Given the description of an element on the screen output the (x, y) to click on. 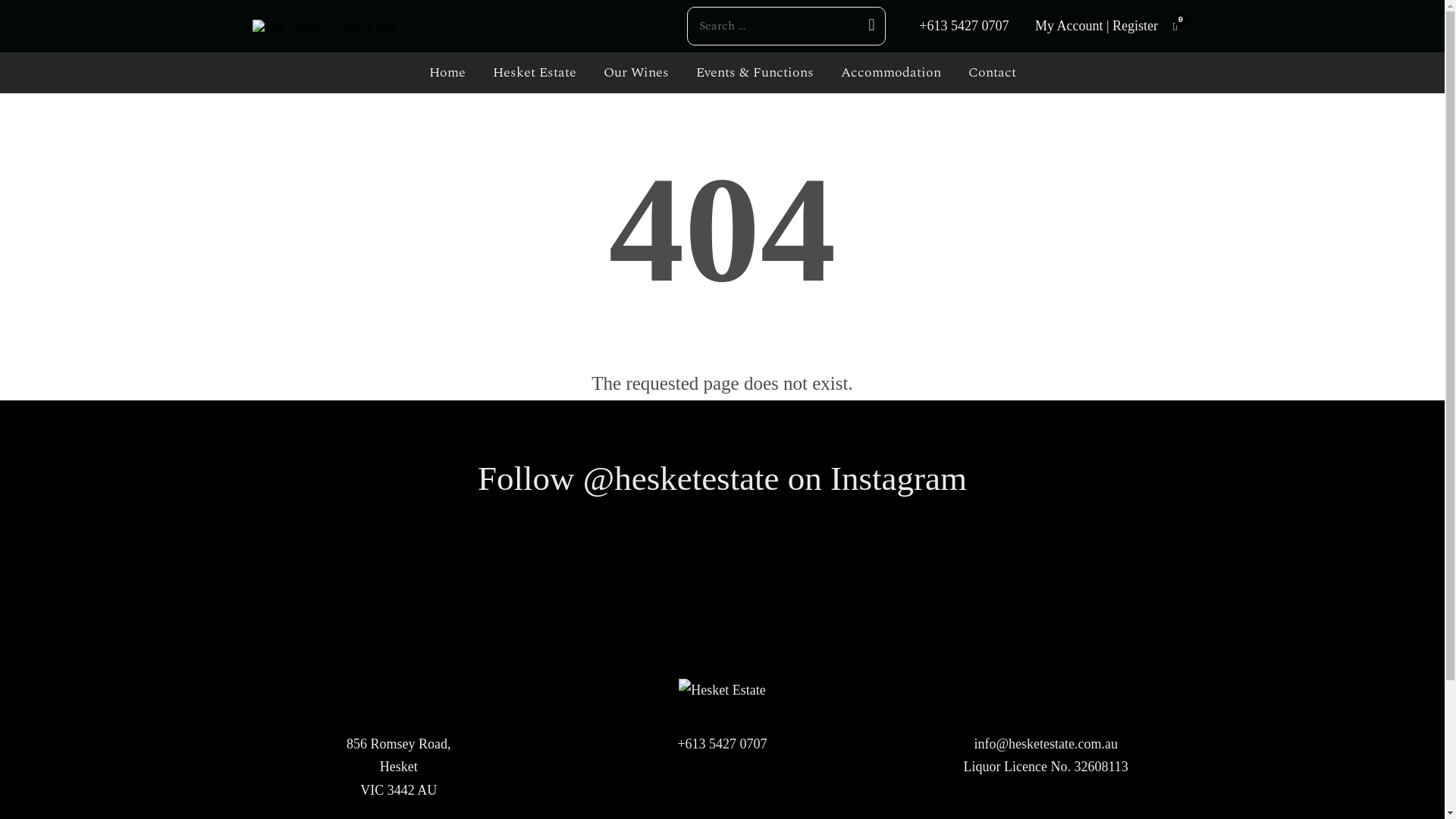
Our Wines Element type: text (635, 72)
Hesket Estate Element type: text (534, 72)
View your shopping cart Element type: hover (1174, 27)
Home Element type: text (447, 72)
+613 5427 0707 Element type: text (721, 744)
Search Element type: text (868, 28)
+613 5427 0707 Element type: text (963, 25)
My Account | Register Element type: text (1096, 25)
info@hesketestate.com.au Element type: text (1045, 744)
Contact Element type: text (991, 72)
Events & Functions Element type: text (754, 72)
Accommodation Element type: text (889, 72)
